Given the description of an element on the screen output the (x, y) to click on. 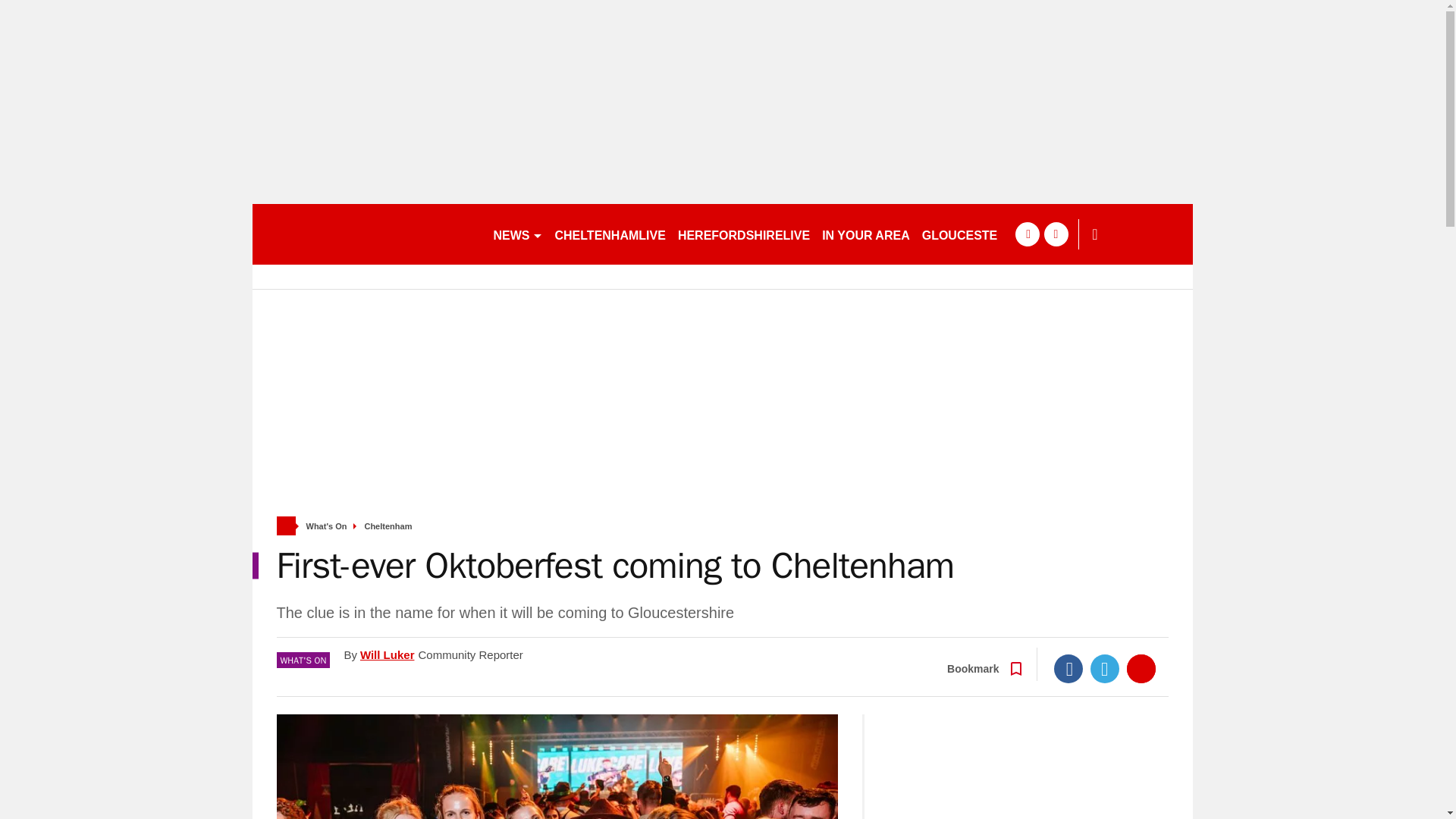
gloucestershirelive (365, 233)
twitter (1055, 233)
Twitter (1104, 668)
GLOUCESTER NEWS (983, 233)
NEWS (517, 233)
facebook (1026, 233)
Facebook (1068, 668)
HEREFORDSHIRELIVE (743, 233)
IN YOUR AREA (865, 233)
CHELTENHAMLIVE (609, 233)
